Given the description of an element on the screen output the (x, y) to click on. 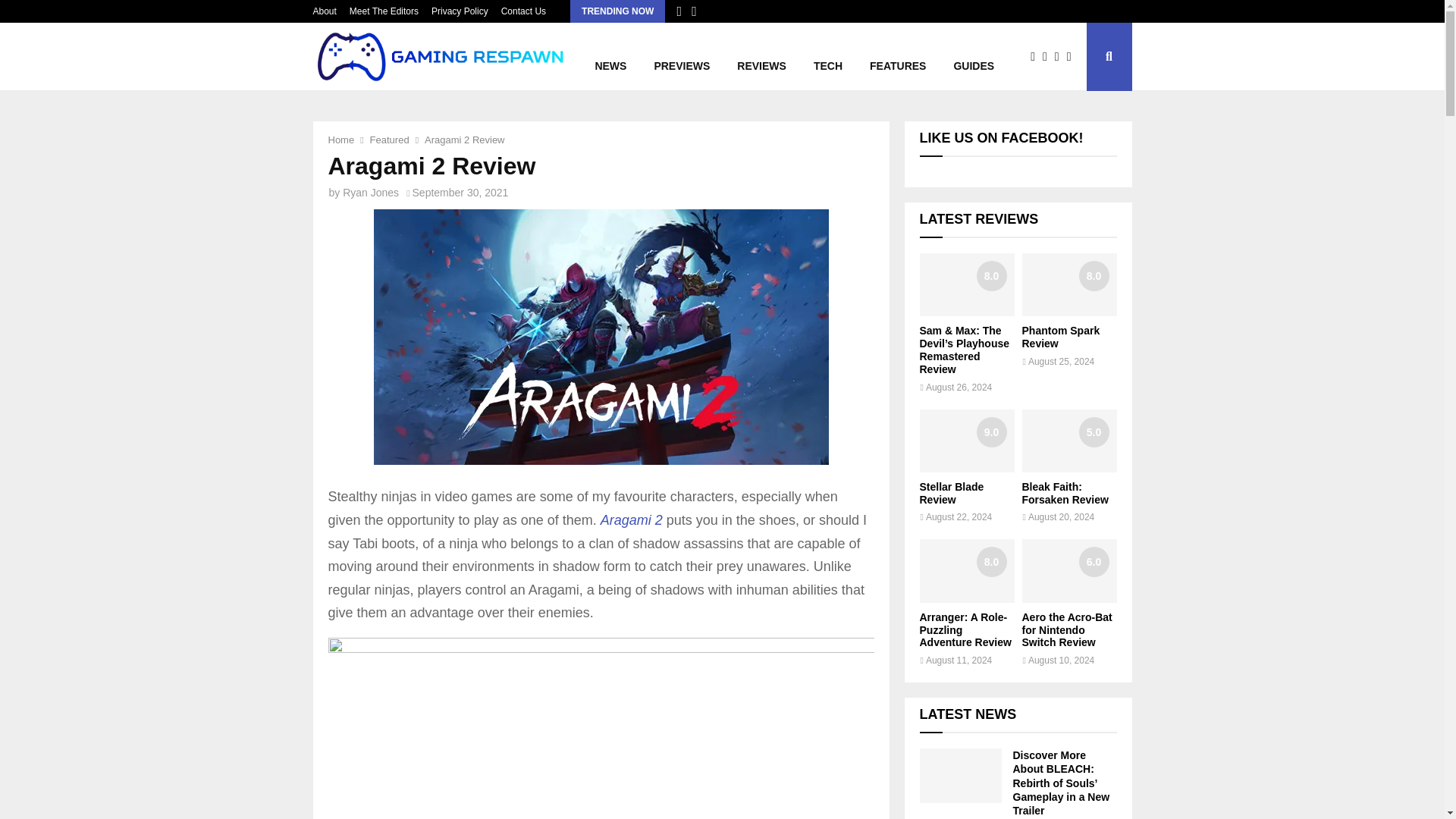
Ryan Jones (370, 192)
Featured (389, 139)
Aragami 2 (630, 519)
PREVIEWS (681, 56)
About (324, 11)
Contact Us (523, 11)
Aragami 2 Review (465, 139)
Like us on Facebook! (1000, 137)
Meet The Editors (384, 11)
Privacy Policy (458, 11)
